Given the description of an element on the screen output the (x, y) to click on. 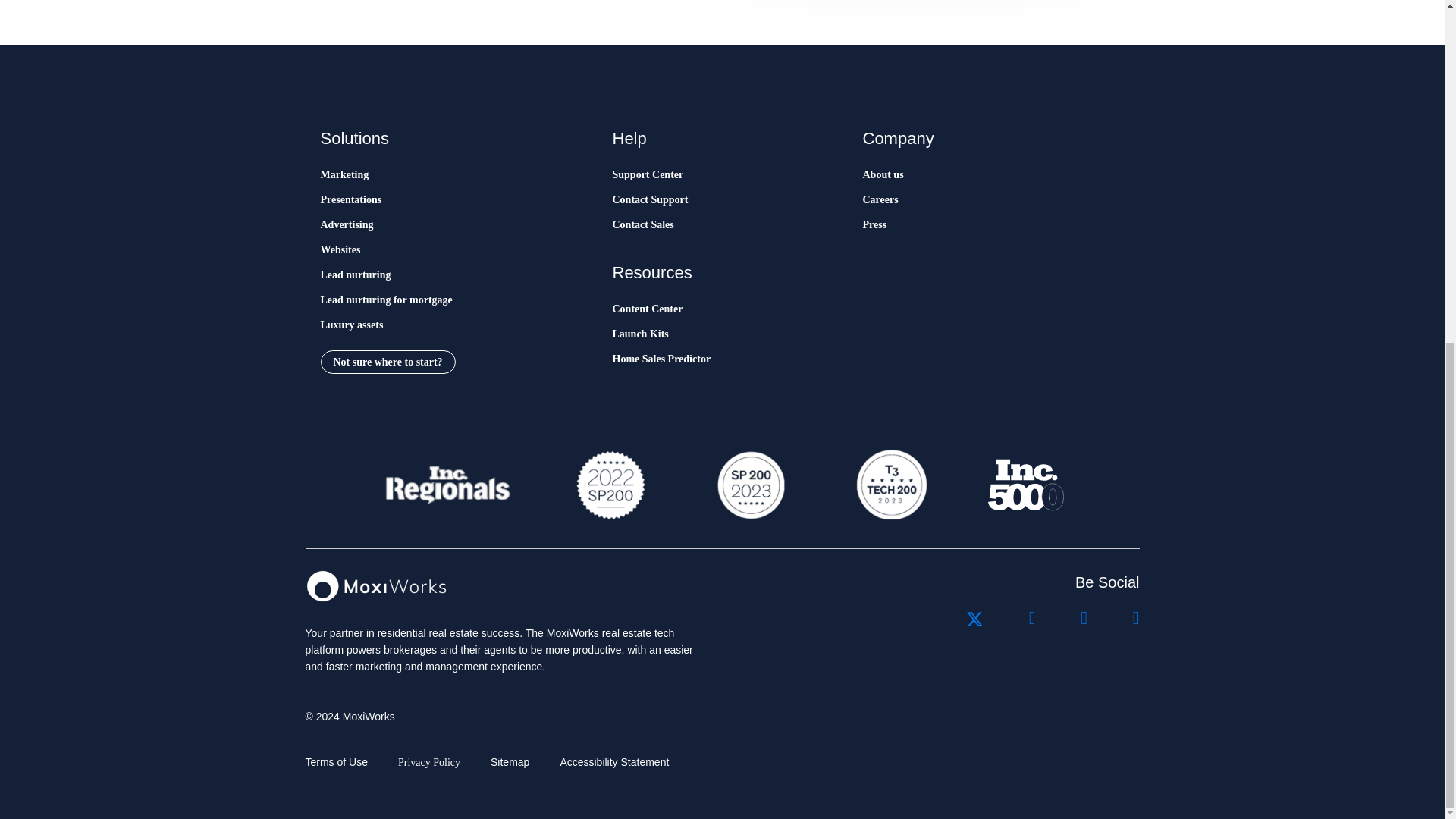
SP 2023 (749, 484)
T3 tech 200 2023 (890, 484)
SP 2022 (610, 484)
